Given the description of an element on the screen output the (x, y) to click on. 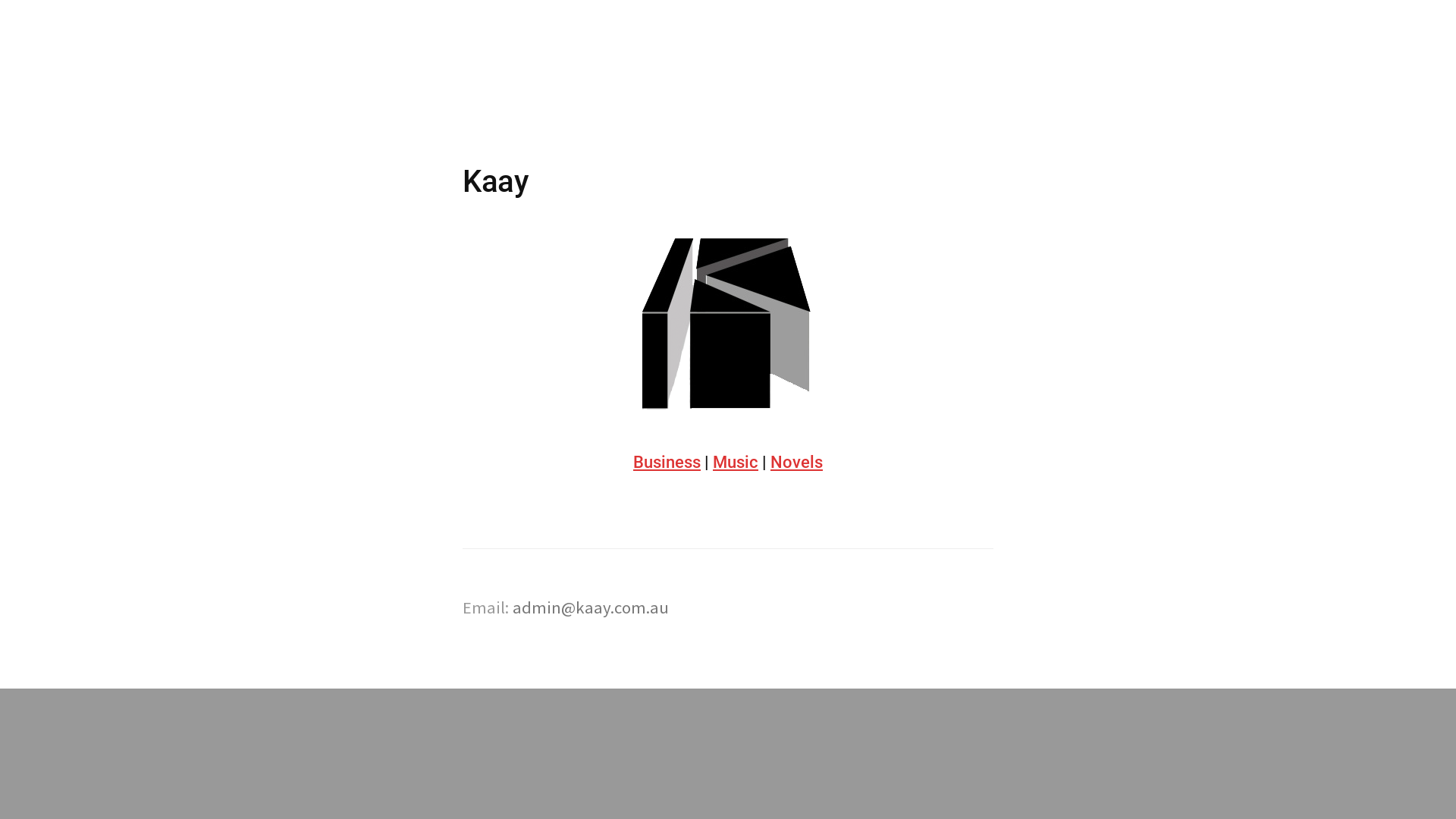
Music Element type: text (735, 461)
Skip to content Element type: text (462, 75)
Novels Element type: text (796, 461)
admin@kaay.com.au Element type: text (590, 607)
Business Element type: text (666, 461)
